Given the description of an element on the screen output the (x, y) to click on. 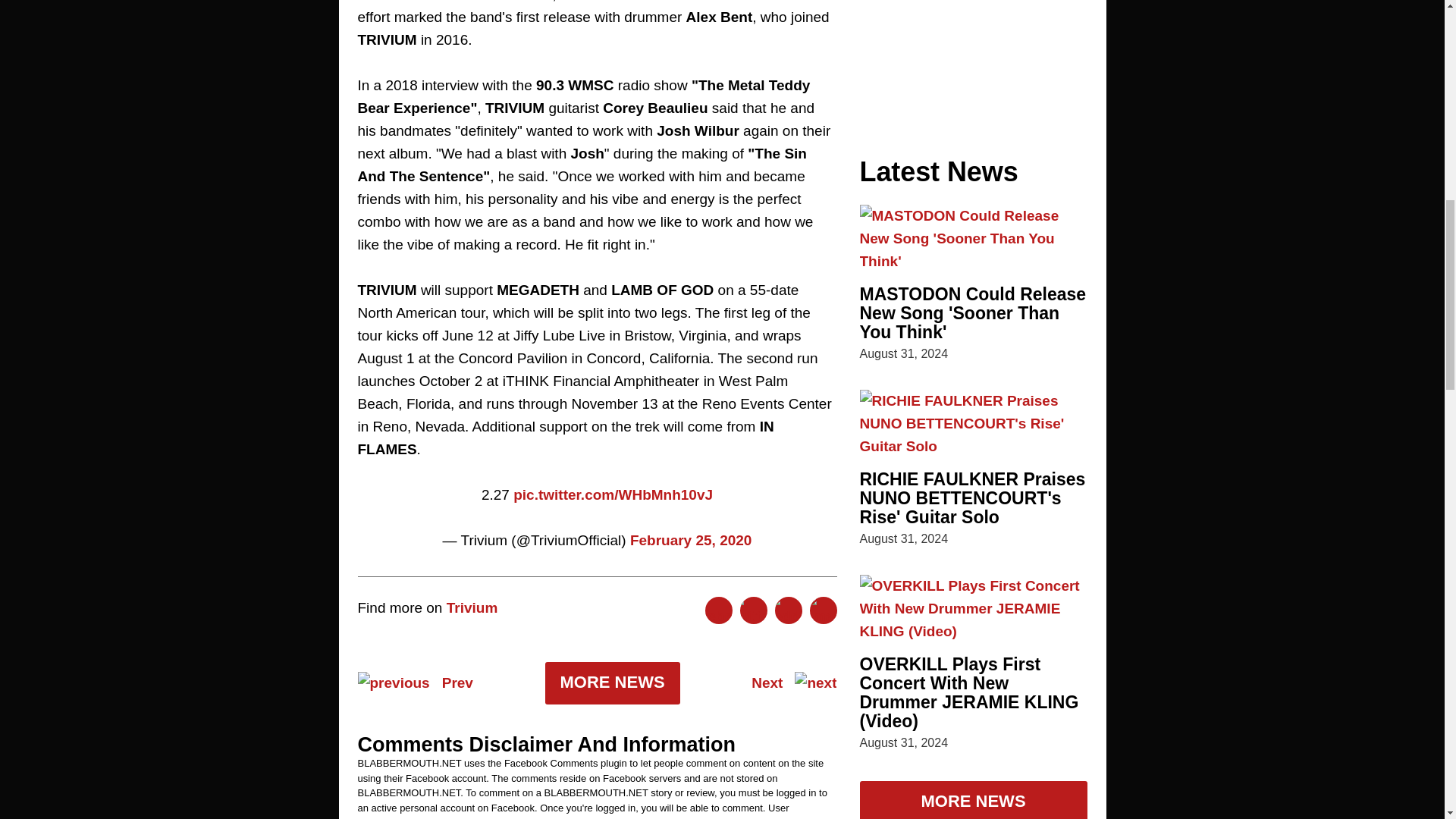
MORE NEWS (611, 682)
February 25, 2020 (691, 539)
Share On Facebook (718, 610)
Share On Twitter (753, 610)
Trivium (471, 607)
Next (793, 682)
Share On Reddit (788, 610)
RICHIE FAULKNER Praises NUNO BETTENCOURT's Rise' Guitar Solo (973, 498)
MASTODON Could Release New Song 'Sooner Than You Think' (973, 313)
Copy To Clipboard (823, 610)
